Given the description of an element on the screen output the (x, y) to click on. 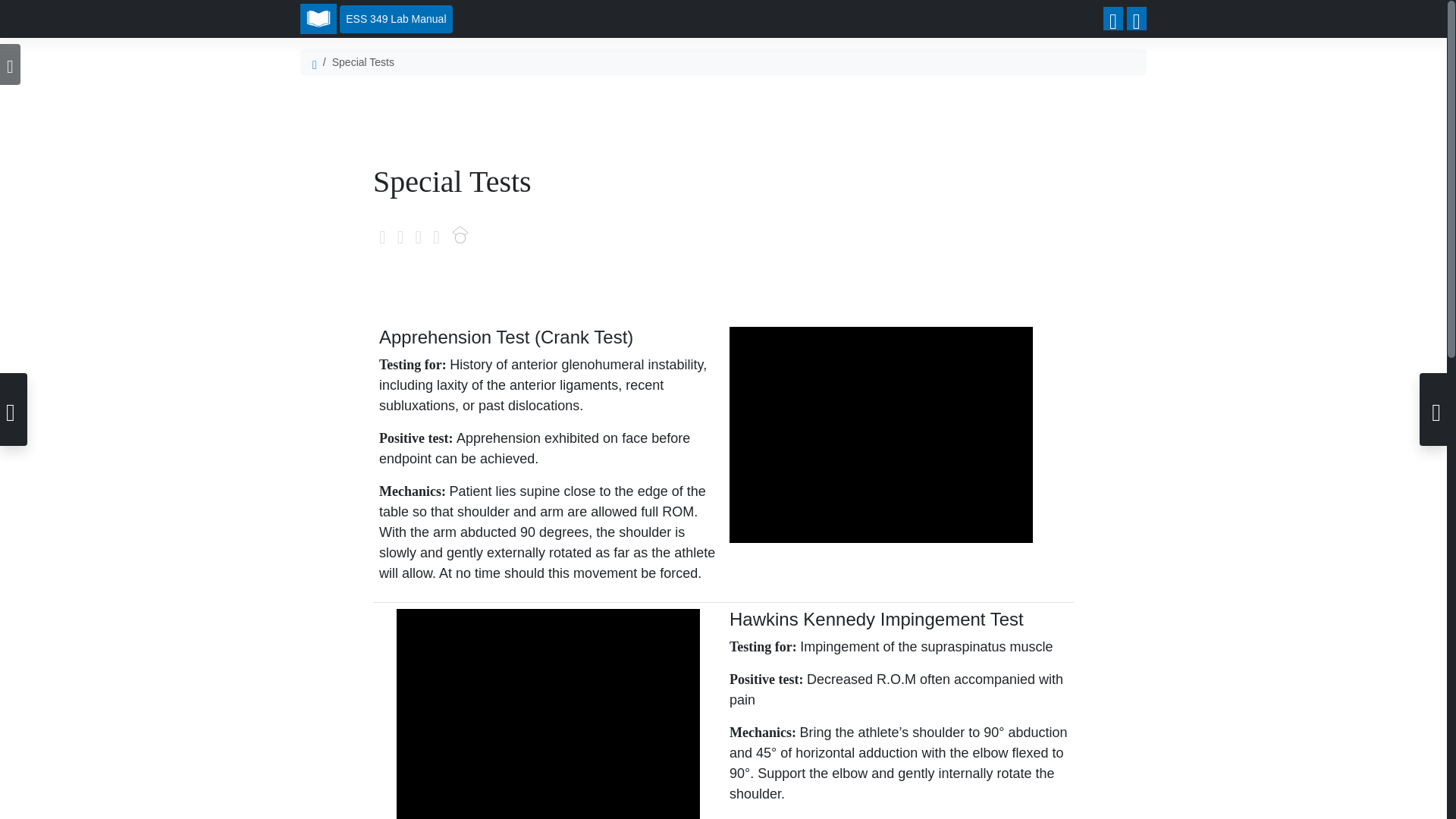
ESS 349 Lab Manual (395, 18)
Apprehension Test - Anterior Shoulder Instability (880, 434)
